Given the description of an element on the screen output the (x, y) to click on. 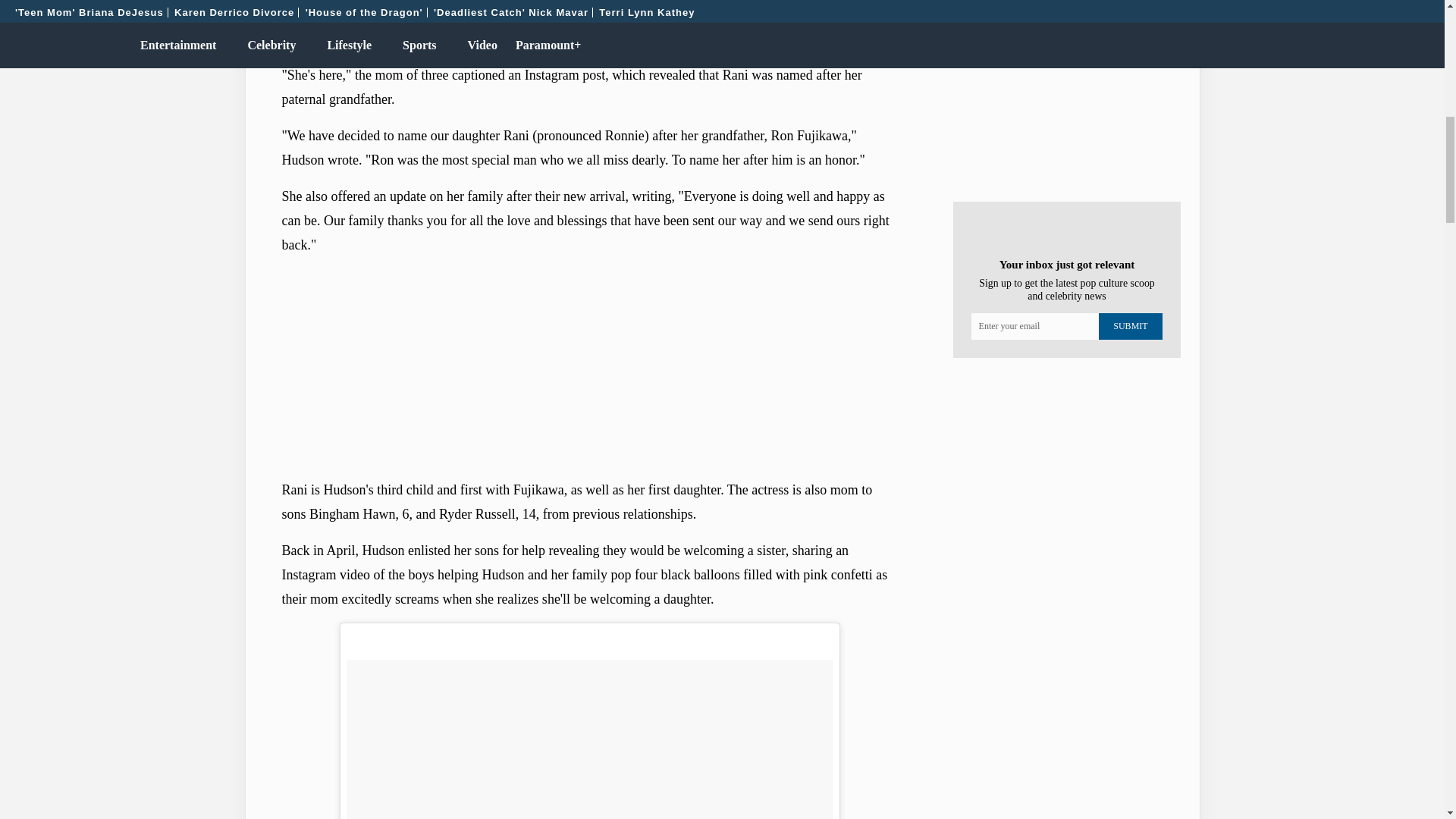
submit (1130, 325)
